Given the description of an element on the screen output the (x, y) to click on. 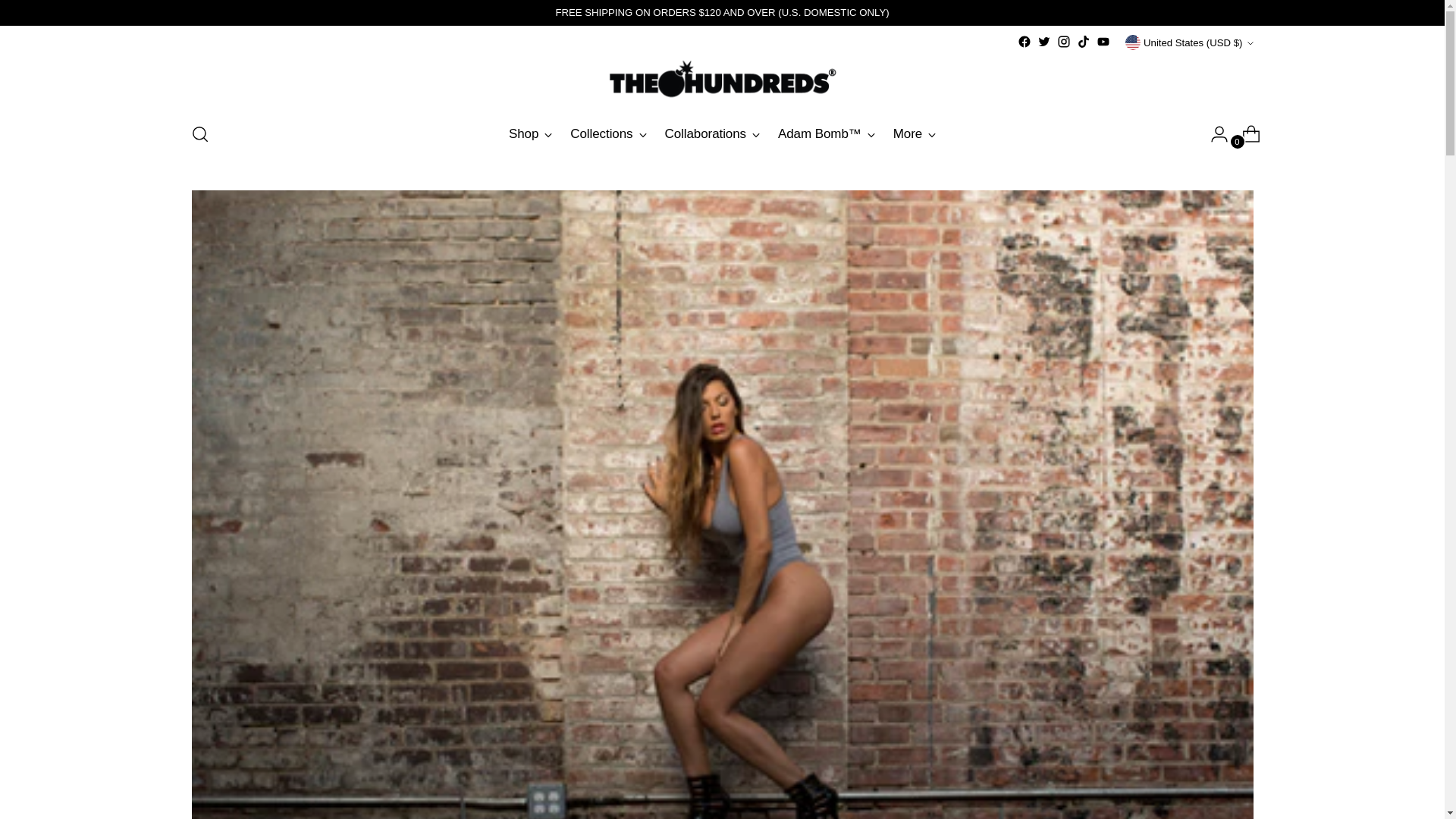
The Hundreds on Instagram (1063, 41)
The Hundreds on YouTube (1102, 41)
The Hundreds on Tiktok (1083, 41)
The Hundreds on Twitter (1043, 41)
The Hundreds on Facebook (1023, 41)
